Given the description of an element on the screen output the (x, y) to click on. 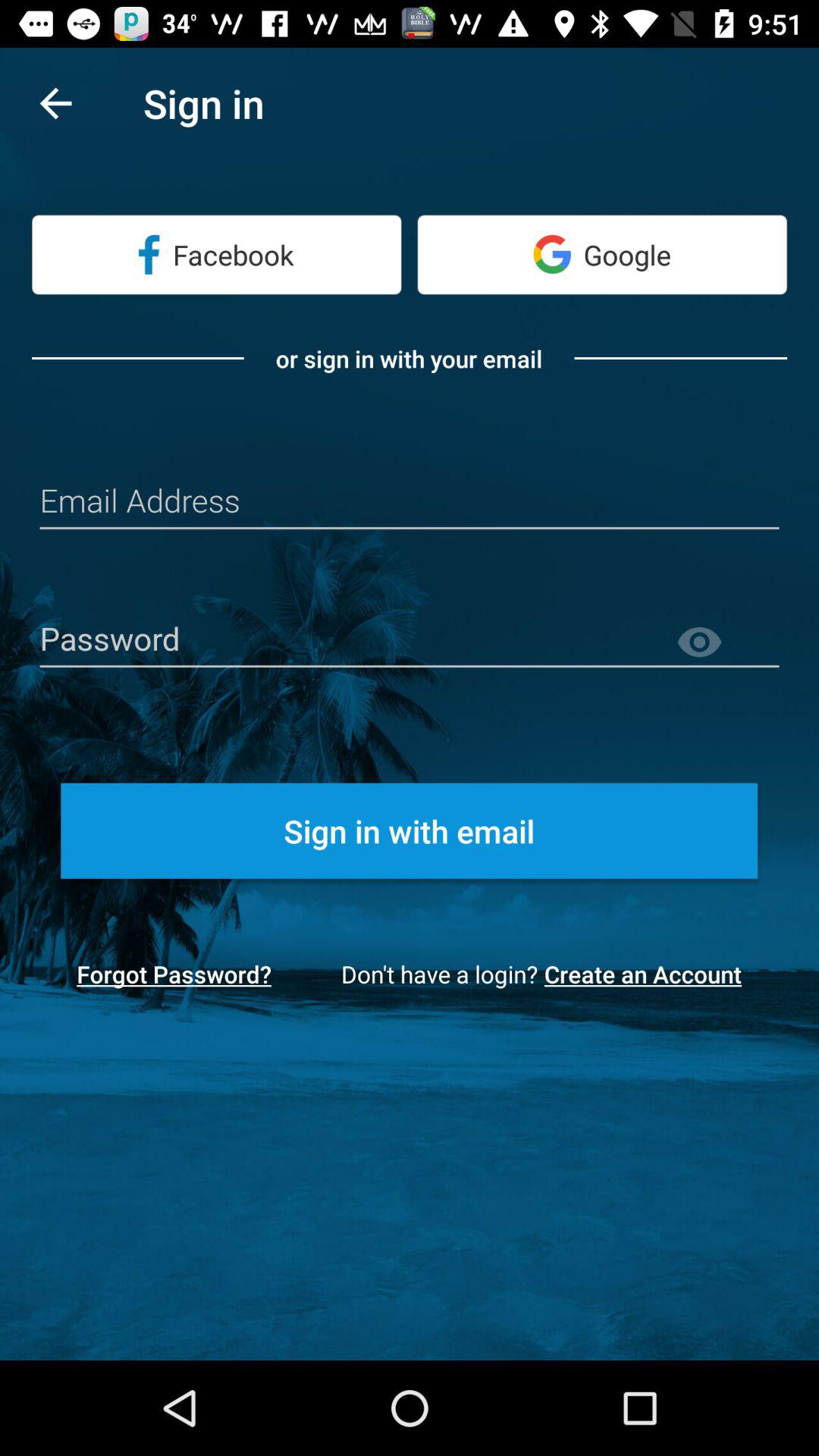
email address (409, 502)
